Given the description of an element on the screen output the (x, y) to click on. 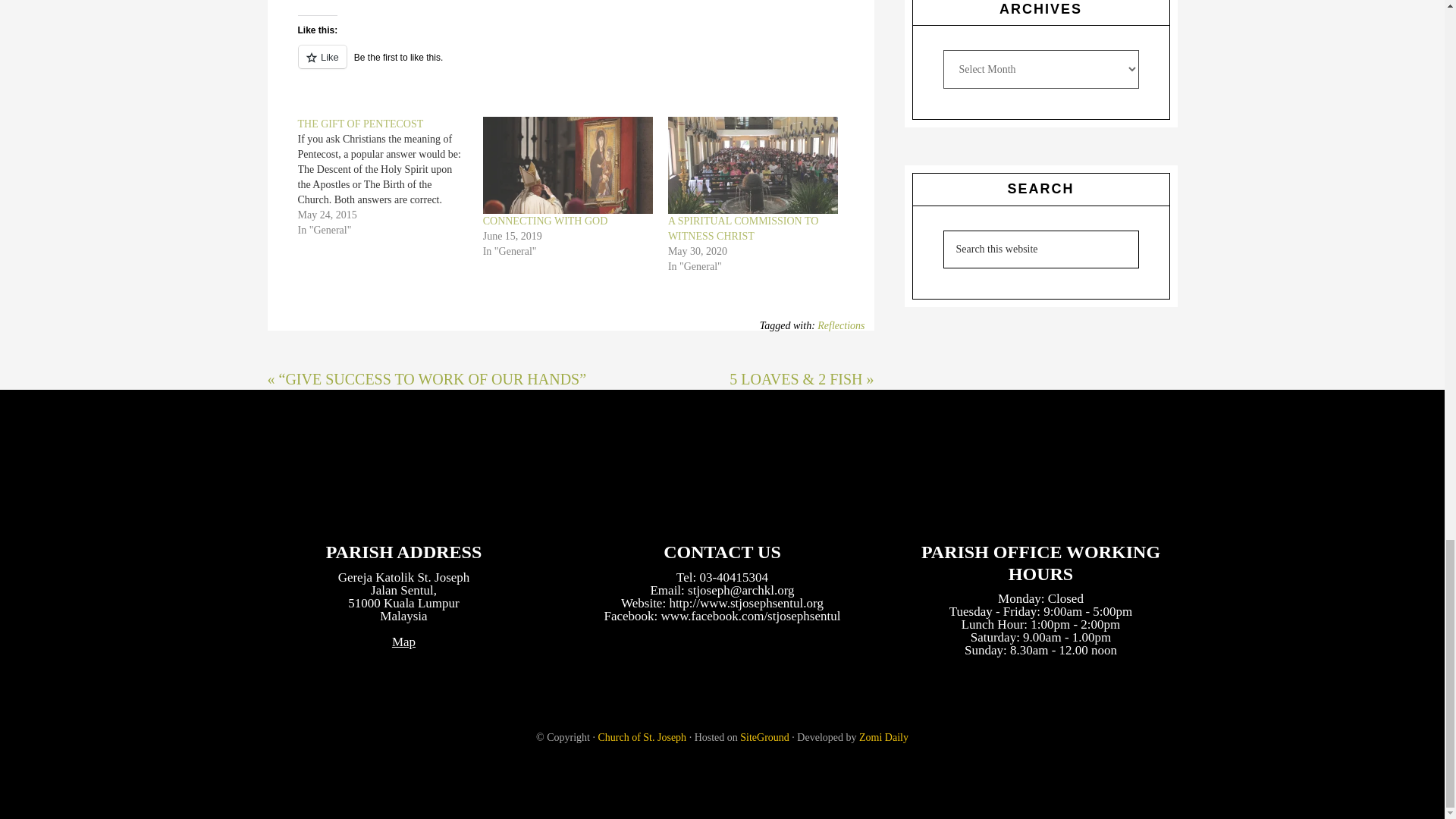
Like or Reblog (570, 65)
A SPIRITUAL COMMISSION TO WITNESS CHRIST (753, 165)
CONNECTING WITH GOD (567, 165)
THE GIFT OF PENTECOST (389, 177)
CONNECTING WITH GOD (545, 220)
THE GIFT OF PENTECOST (360, 123)
A SPIRITUAL COMMISSION TO WITNESS CHRIST (743, 228)
